Given the description of an element on the screen output the (x, y) to click on. 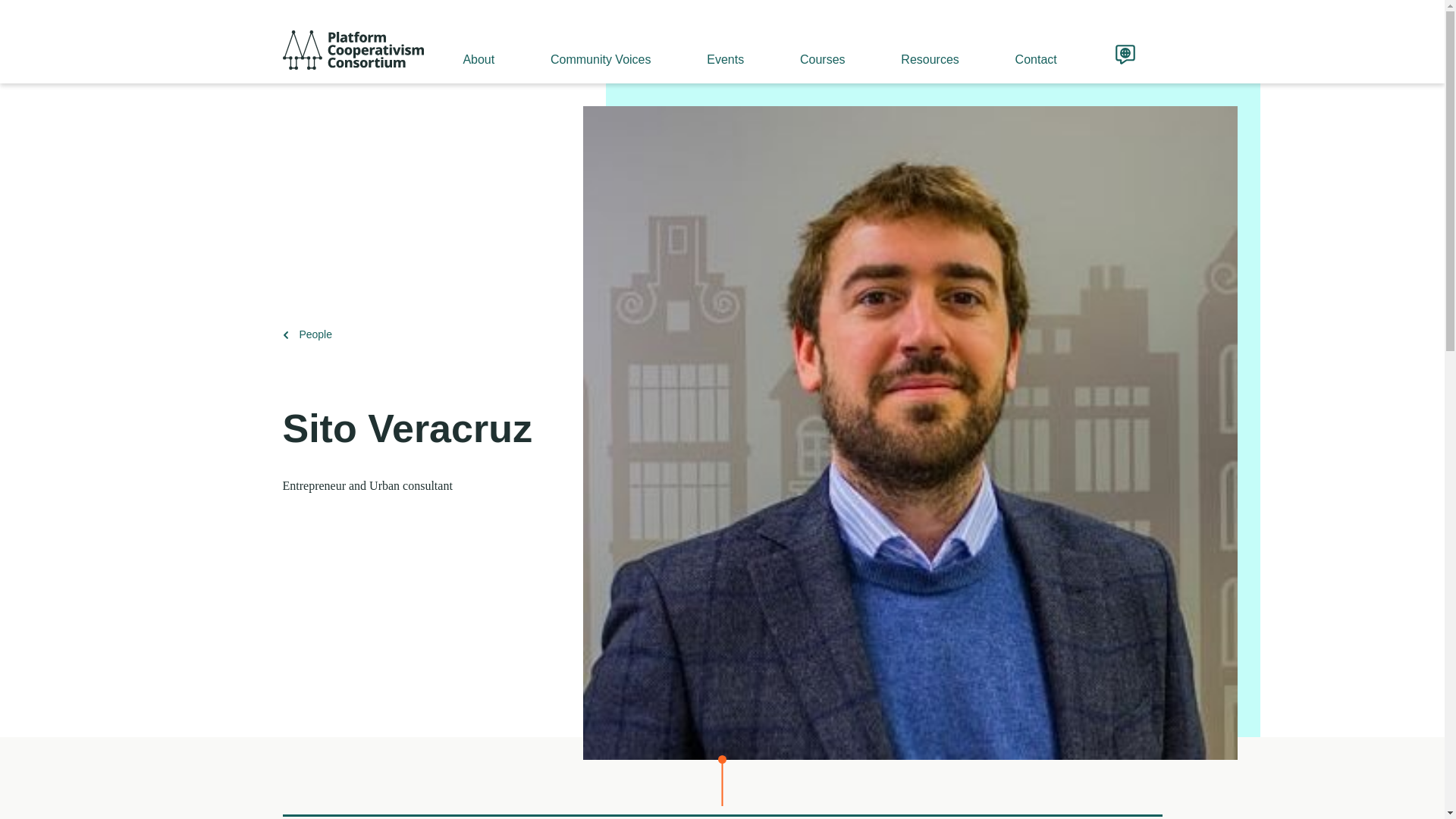
Resources (928, 59)
About (477, 59)
Contact (1035, 59)
Community Voices (599, 59)
Events (724, 59)
Courses (820, 59)
